Given the description of an element on the screen output the (x, y) to click on. 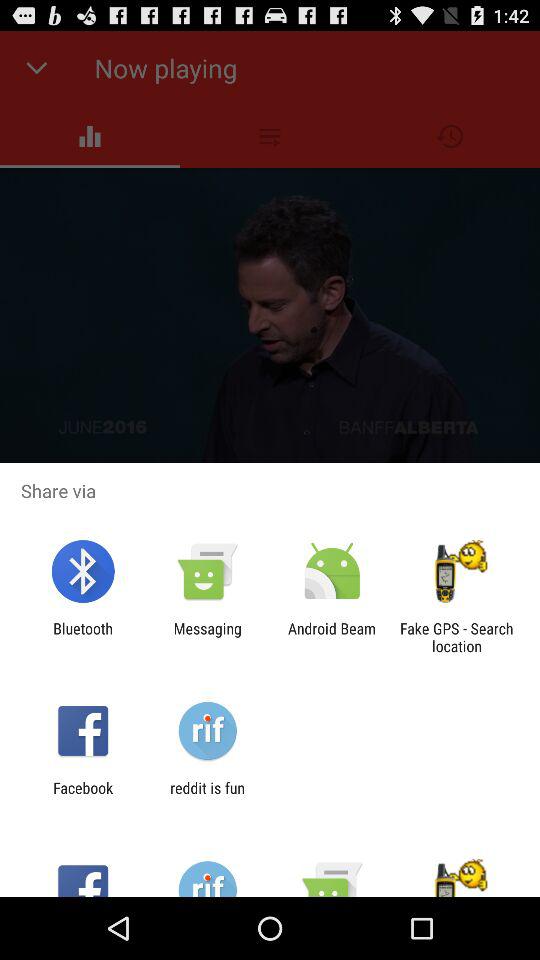
choose the messaging app (207, 637)
